Given the description of an element on the screen output the (x, y) to click on. 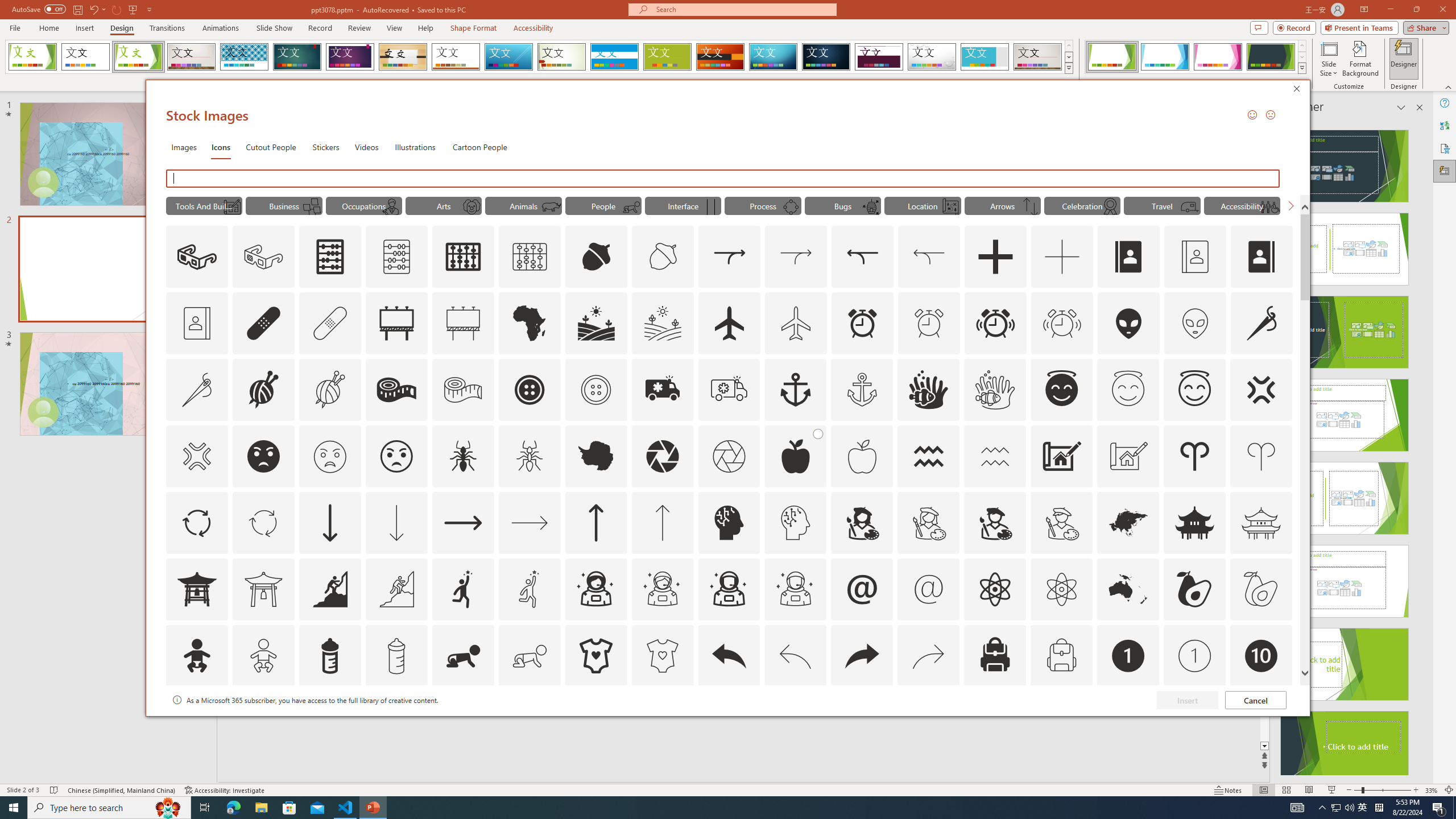
AutomationID: Icons_ArtistMale (995, 522)
"Interface" Icons. (682, 205)
"Travel" Icons. (1162, 205)
AutomationID: Icons_AnemoneAndClownfish_M (995, 389)
AutomationID: Icons_Aries (1194, 455)
